Given the description of an element on the screen output the (x, y) to click on. 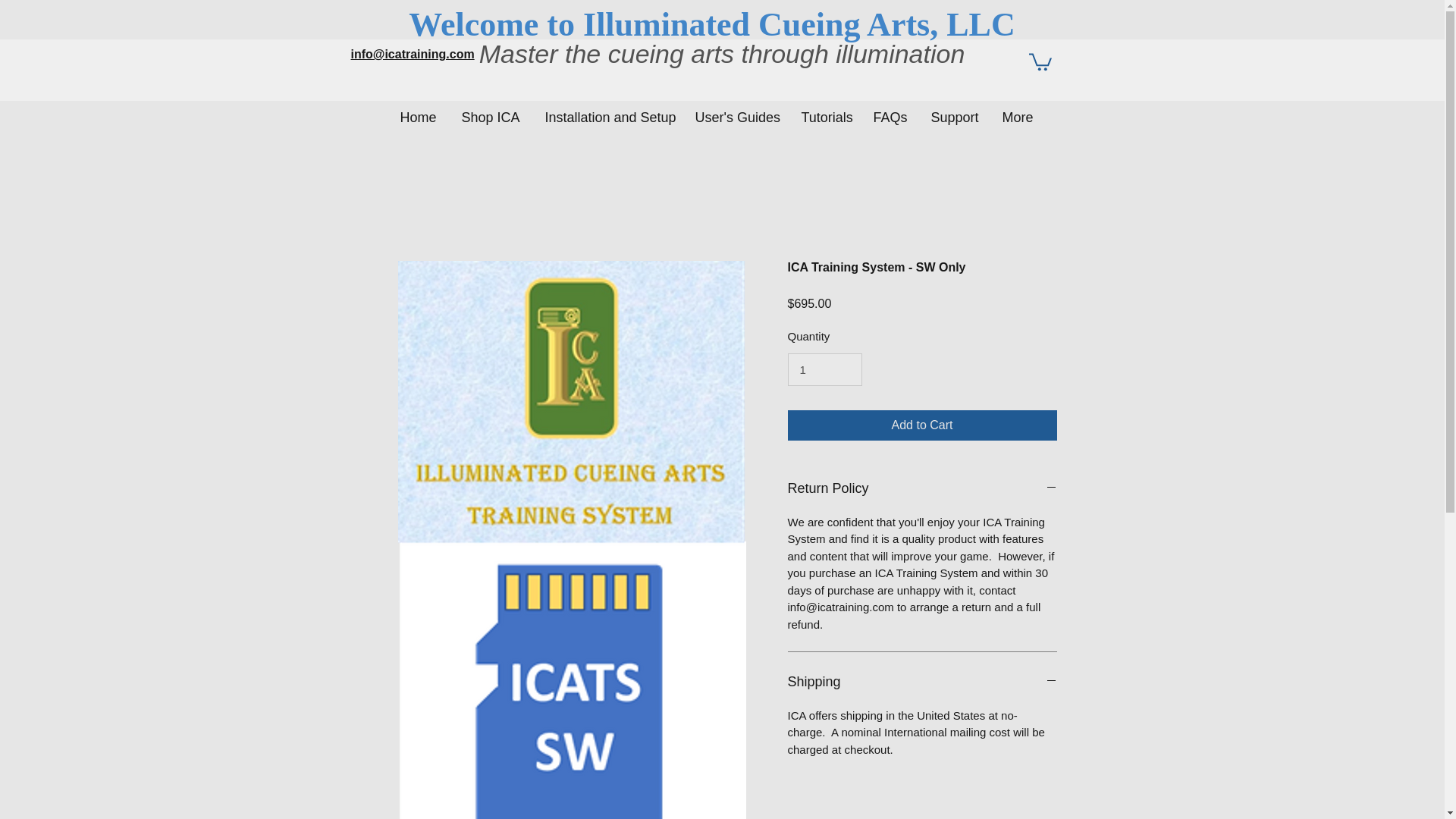
Installation and Setup (606, 110)
Shop ICA (488, 110)
Home (417, 110)
User's Guides (734, 110)
1 (824, 369)
FAQs (888, 110)
Tutorials (823, 110)
Return Policy (922, 488)
Add to Cart (922, 425)
Support (952, 110)
